Given the description of an element on the screen output the (x, y) to click on. 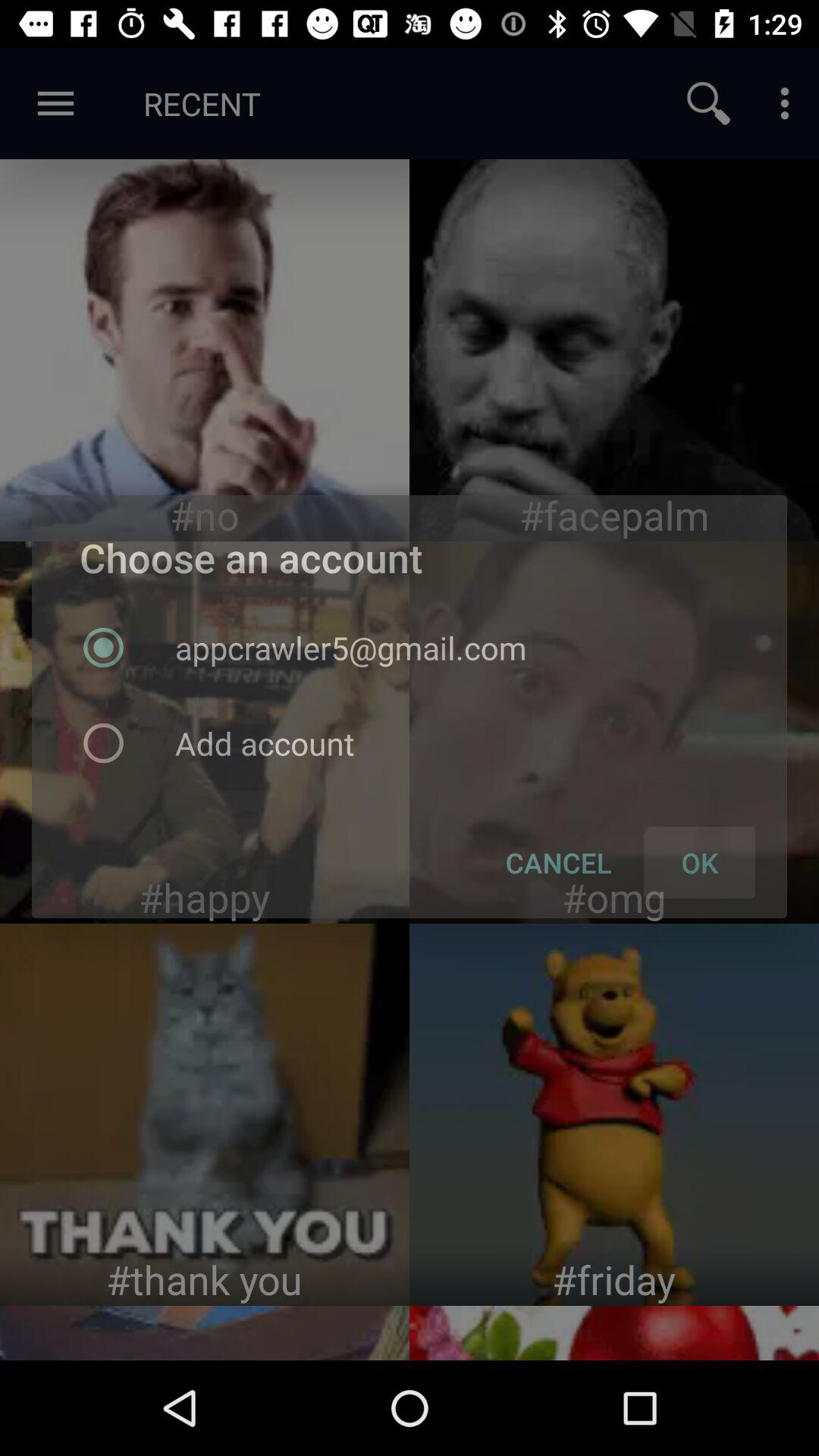
go to ok button (614, 732)
